Given the description of an element on the screen output the (x, y) to click on. 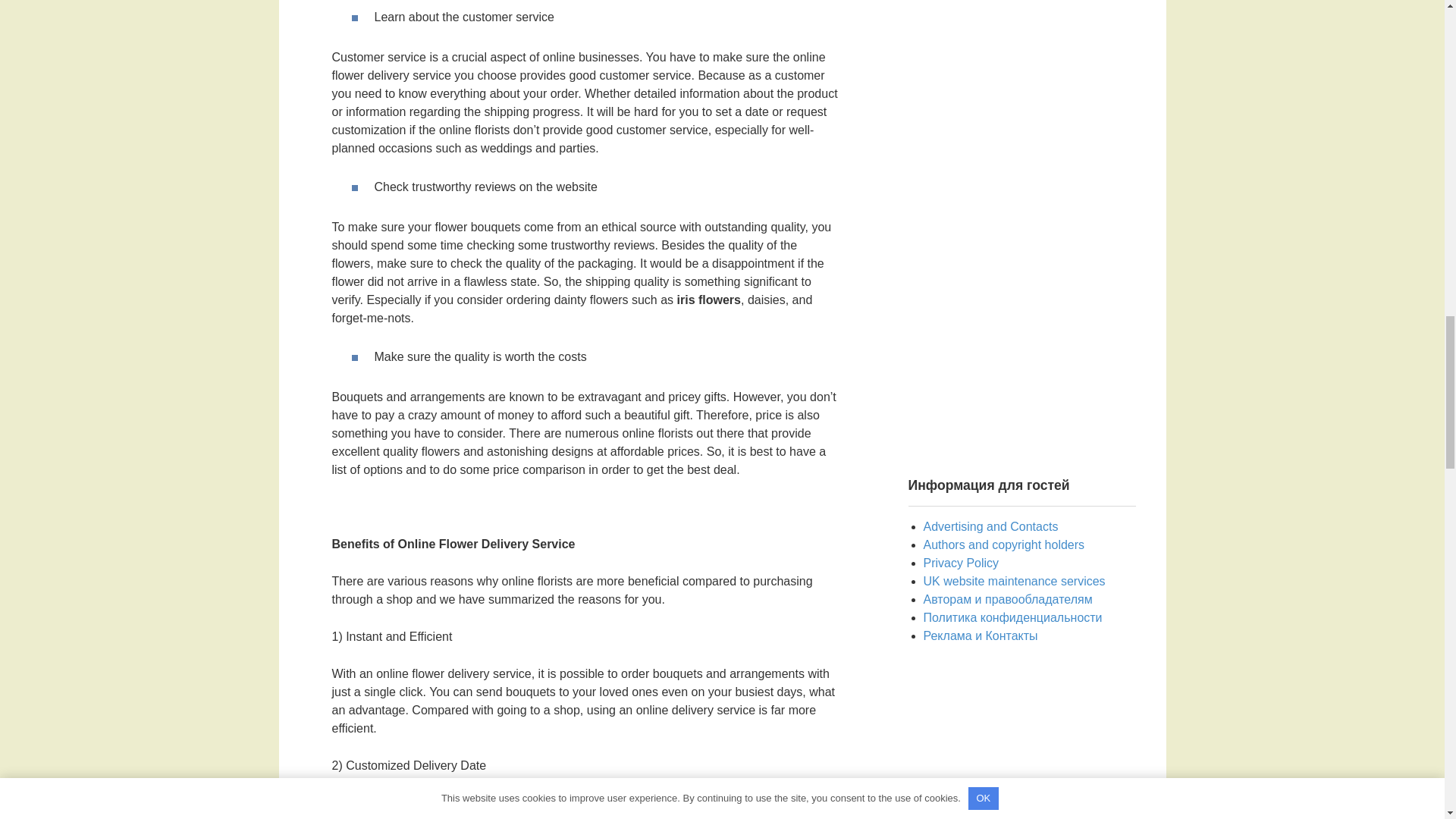
Advertisement (1021, 745)
